Given the description of an element on the screen output the (x, y) to click on. 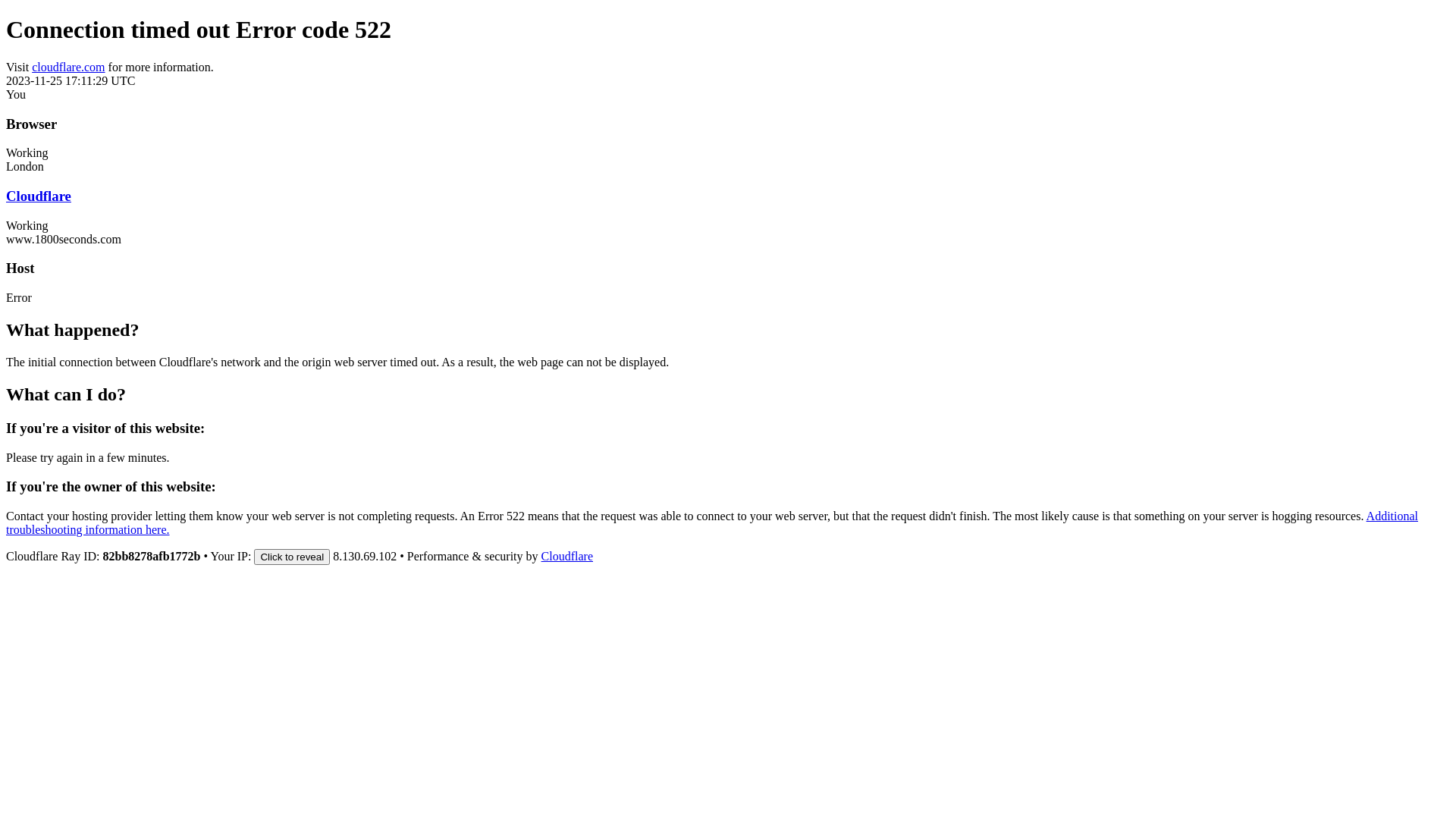
Cloudflare Element type: text (38, 195)
Click to reveal Element type: text (291, 556)
cloudflare.com Element type: text (67, 66)
Additional troubleshooting information here. Element type: text (712, 522)
Cloudflare Element type: text (567, 555)
